Given the description of an element on the screen output the (x, y) to click on. 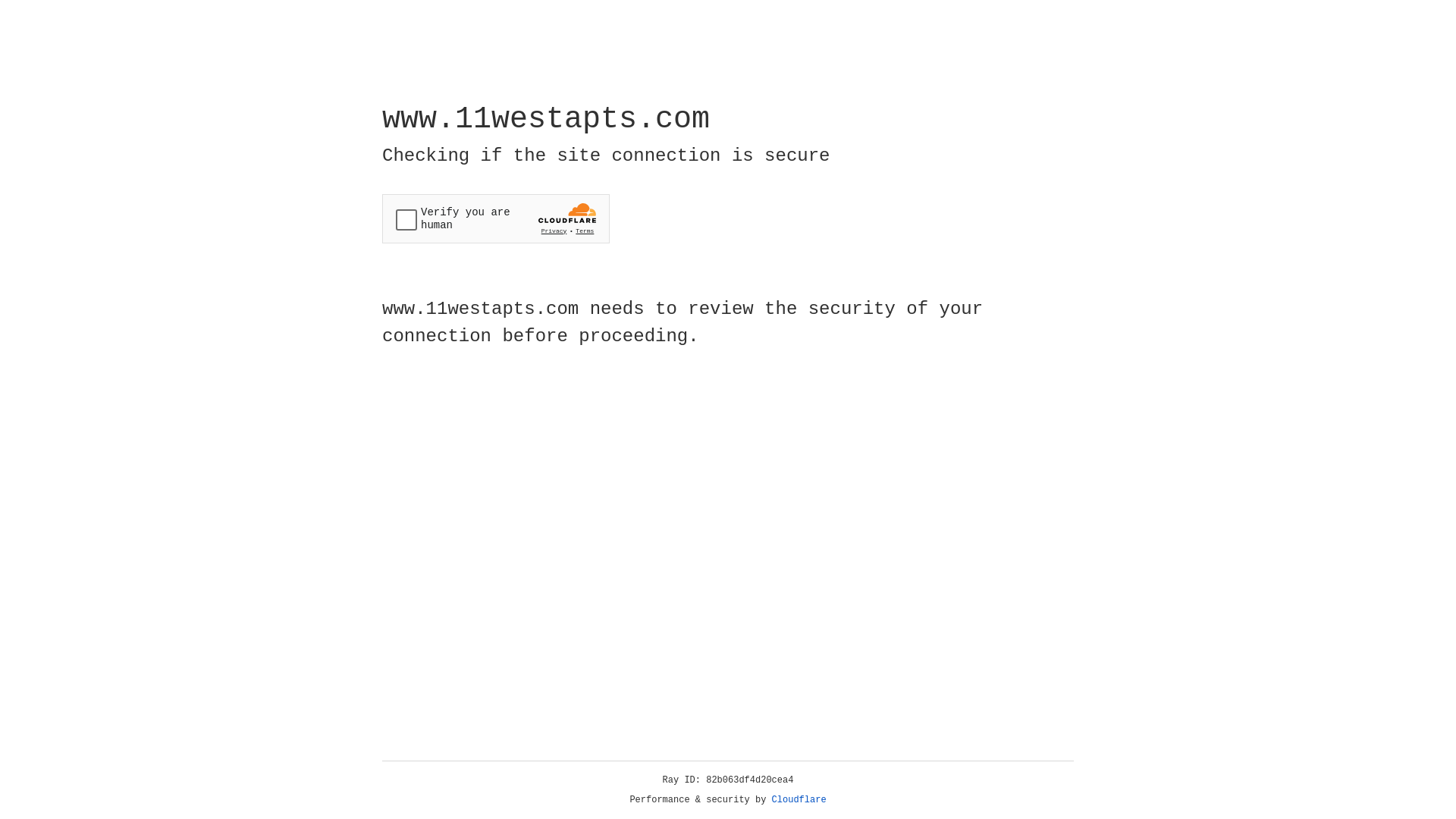
Cloudflare Element type: text (798, 799)
Widget containing a Cloudflare security challenge Element type: hover (495, 218)
